Given the description of an element on the screen output the (x, y) to click on. 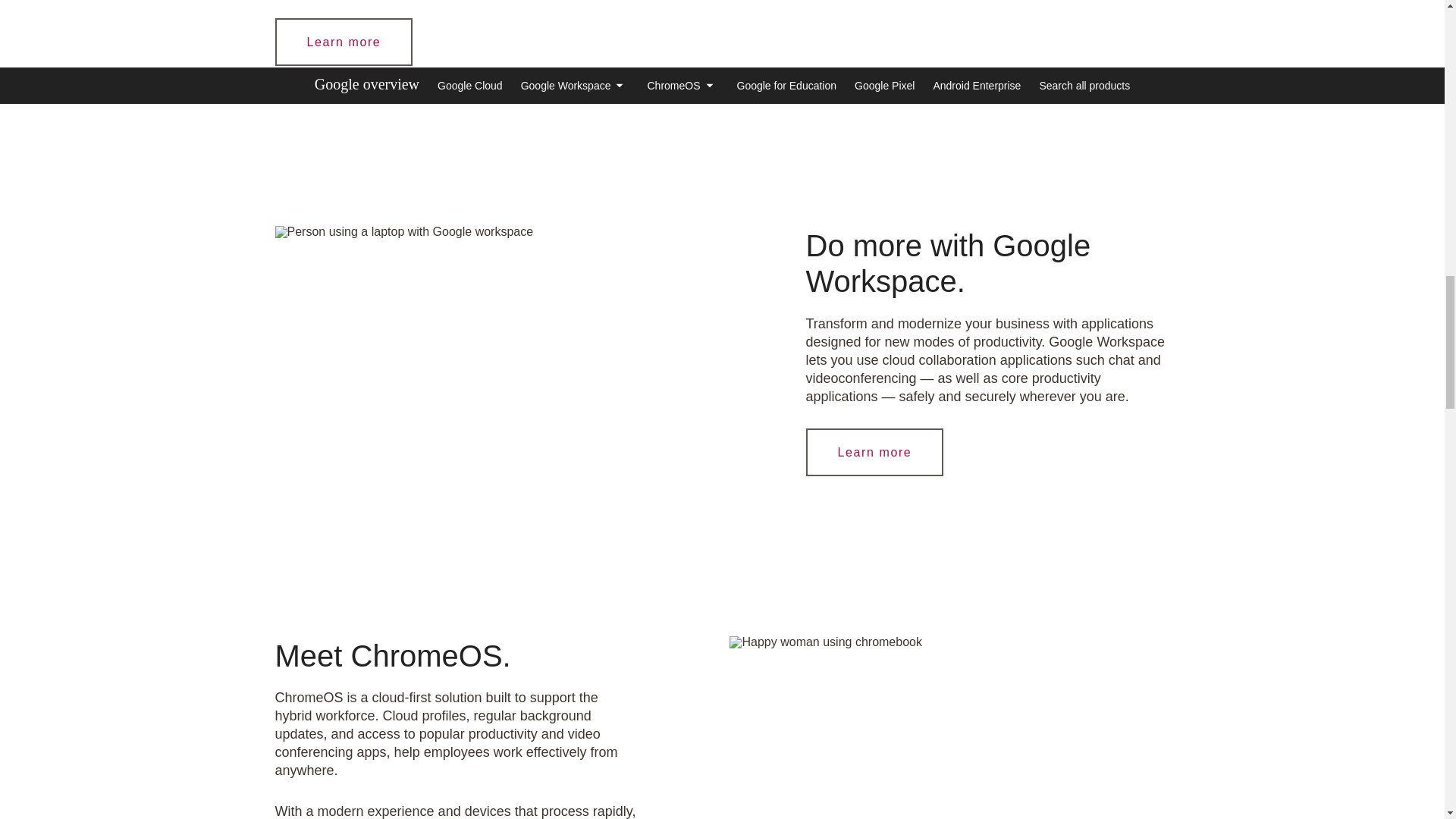
Learn more (344, 42)
Learn more (874, 451)
Do more with Google Workspace. (403, 232)
